Given the description of an element on the screen output the (x, y) to click on. 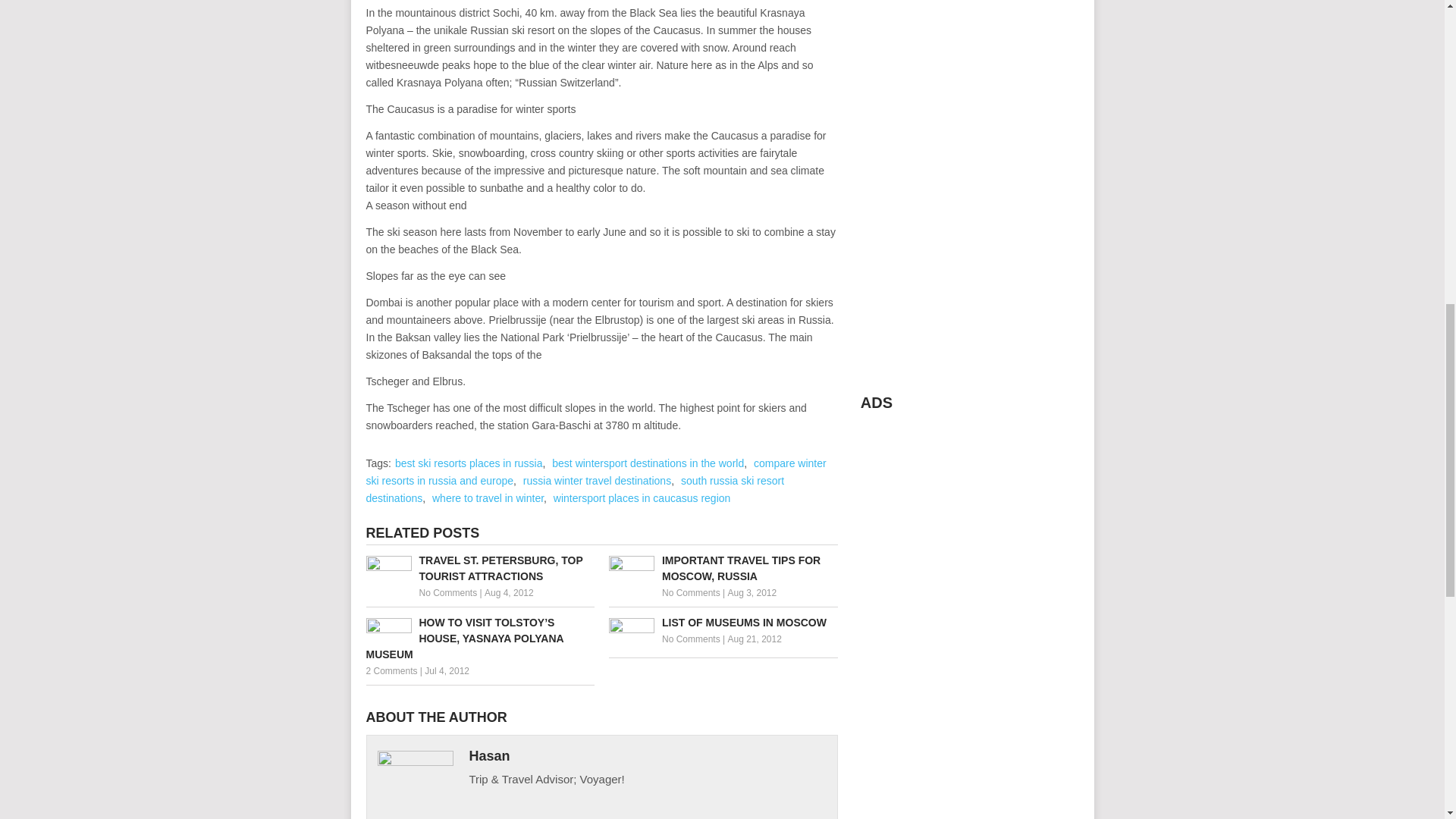
2 Comments (390, 670)
where to travel in winter (487, 498)
russia winter travel destinations (596, 480)
best ski resorts places in russia (468, 463)
Travel St. Petersburg, Top Tourist Attractions (479, 568)
Important Travel Tips for Moscow, Russia (723, 568)
wintersport places in caucasus region (641, 498)
No Comments (691, 593)
LIST OF MUSEUMS IN MOSCOW (723, 622)
TRAVEL ST. PETERSBURG, TOP TOURIST ATTRACTIONS (479, 568)
